Given the description of an element on the screen output the (x, y) to click on. 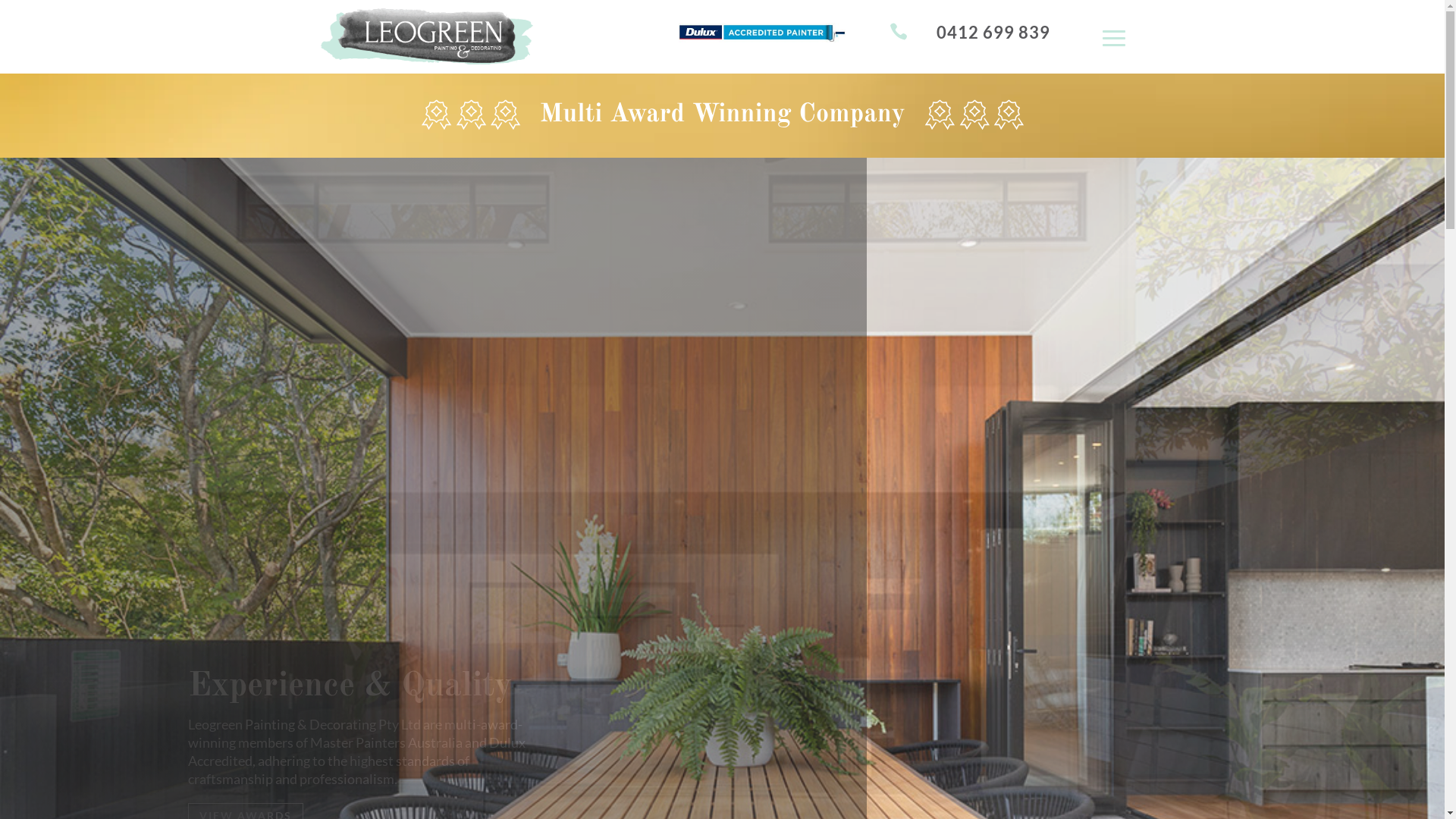
LPD_Accredited_Painter_2021 Element type: hover (760, 32)
0412 699 839 Element type: text (992, 31)
LPD_Award_Banner Element type: hover (721, 115)
Leogreen_Painting_&_Decorating_Logo-01 Element type: hover (425, 36)
Experience & Quality Element type: text (350, 686)
